Given the description of an element on the screen output the (x, y) to click on. 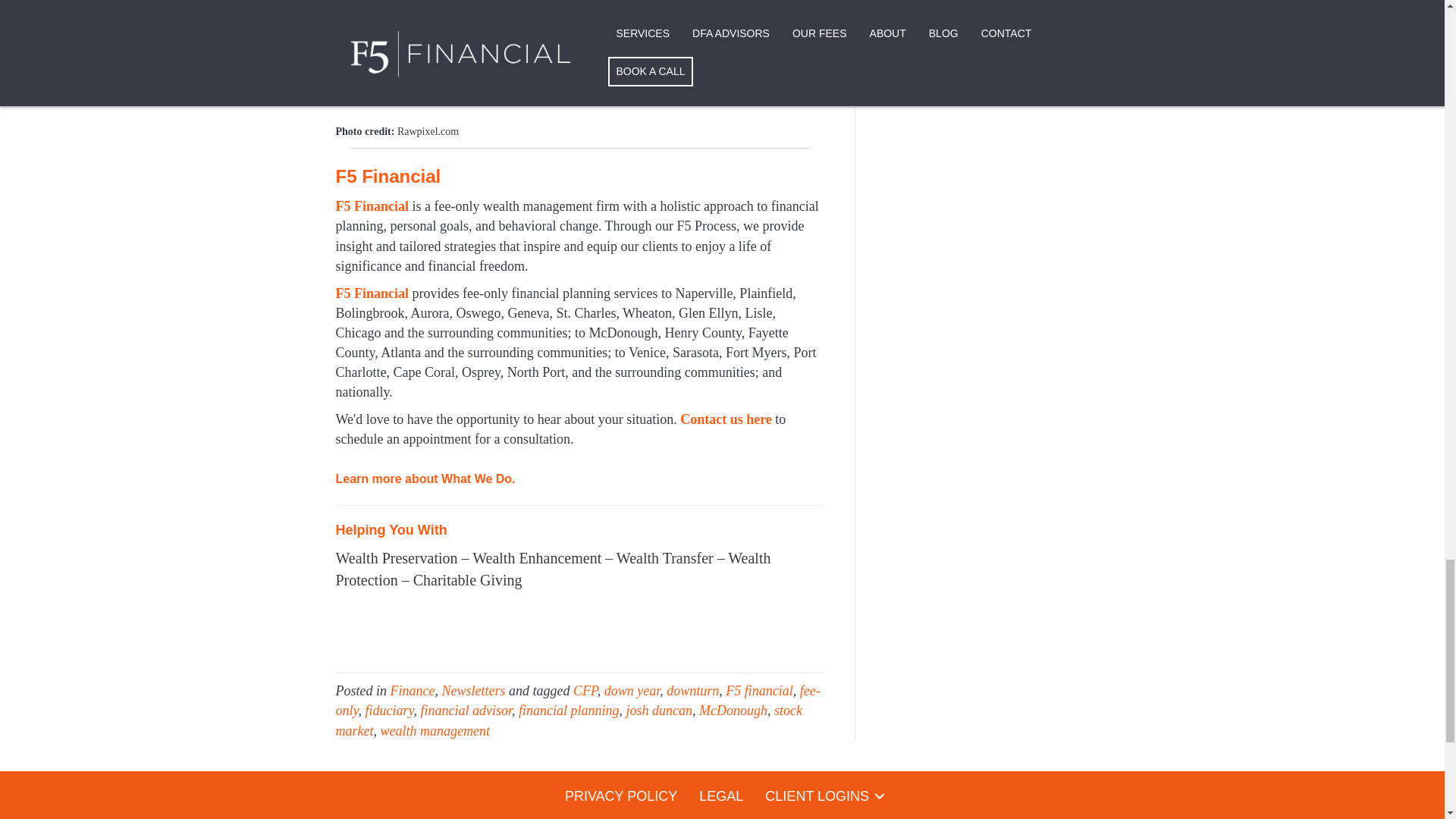
F5 Financial (371, 293)
down year (632, 690)
financial advisor (466, 710)
CFP (584, 690)
downturn (692, 690)
financial planning (569, 710)
F5 financial (759, 690)
Newsletters (473, 690)
Contact us here (725, 418)
send us an (464, 55)
fiduciary (389, 710)
fee-only (576, 700)
Finance (411, 690)
F5 Financial (371, 206)
Learn more about What We Do. (424, 476)
